Given the description of an element on the screen output the (x, y) to click on. 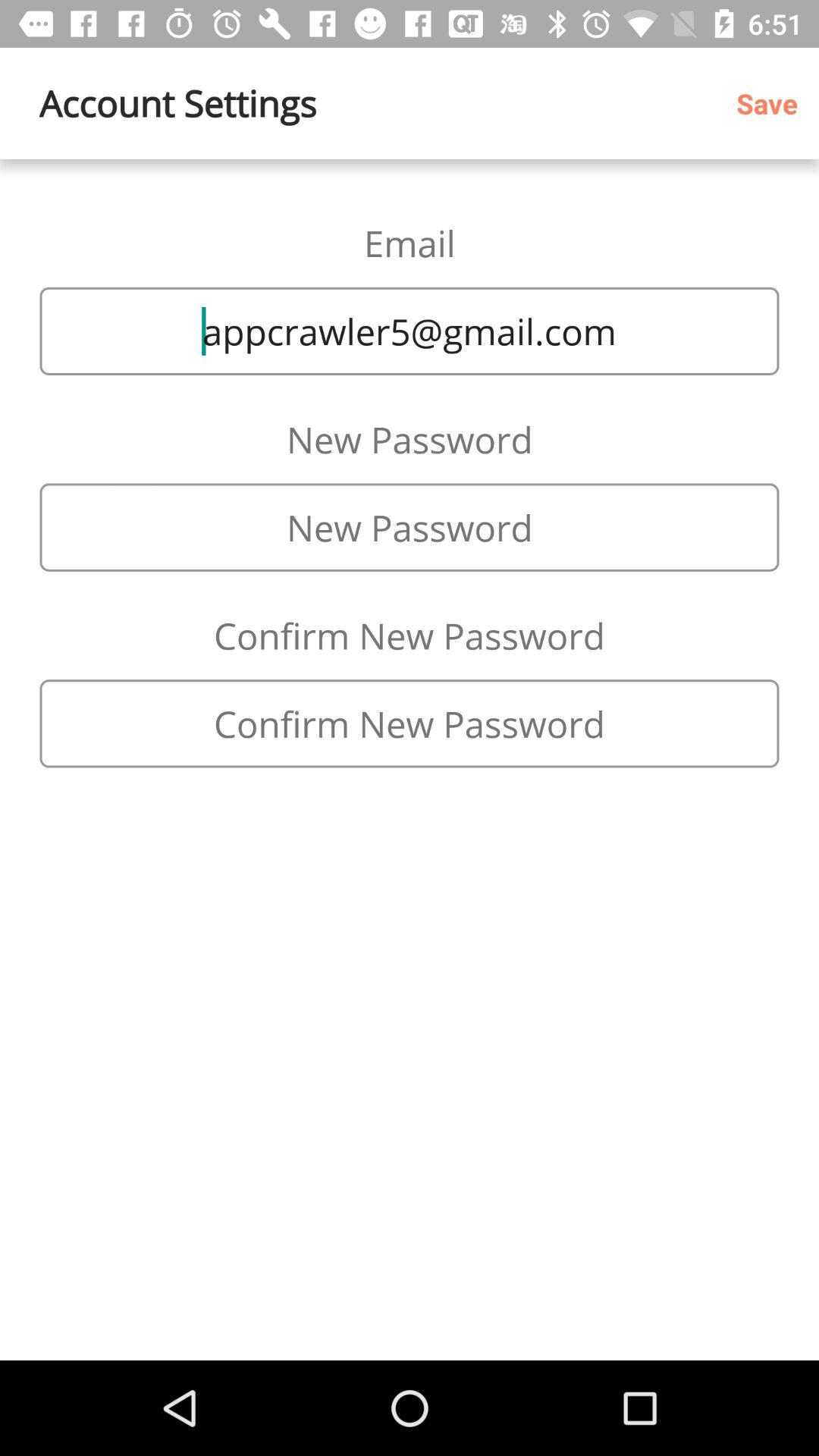
press the item at the top right corner (772, 103)
